Given the description of an element on the screen output the (x, y) to click on. 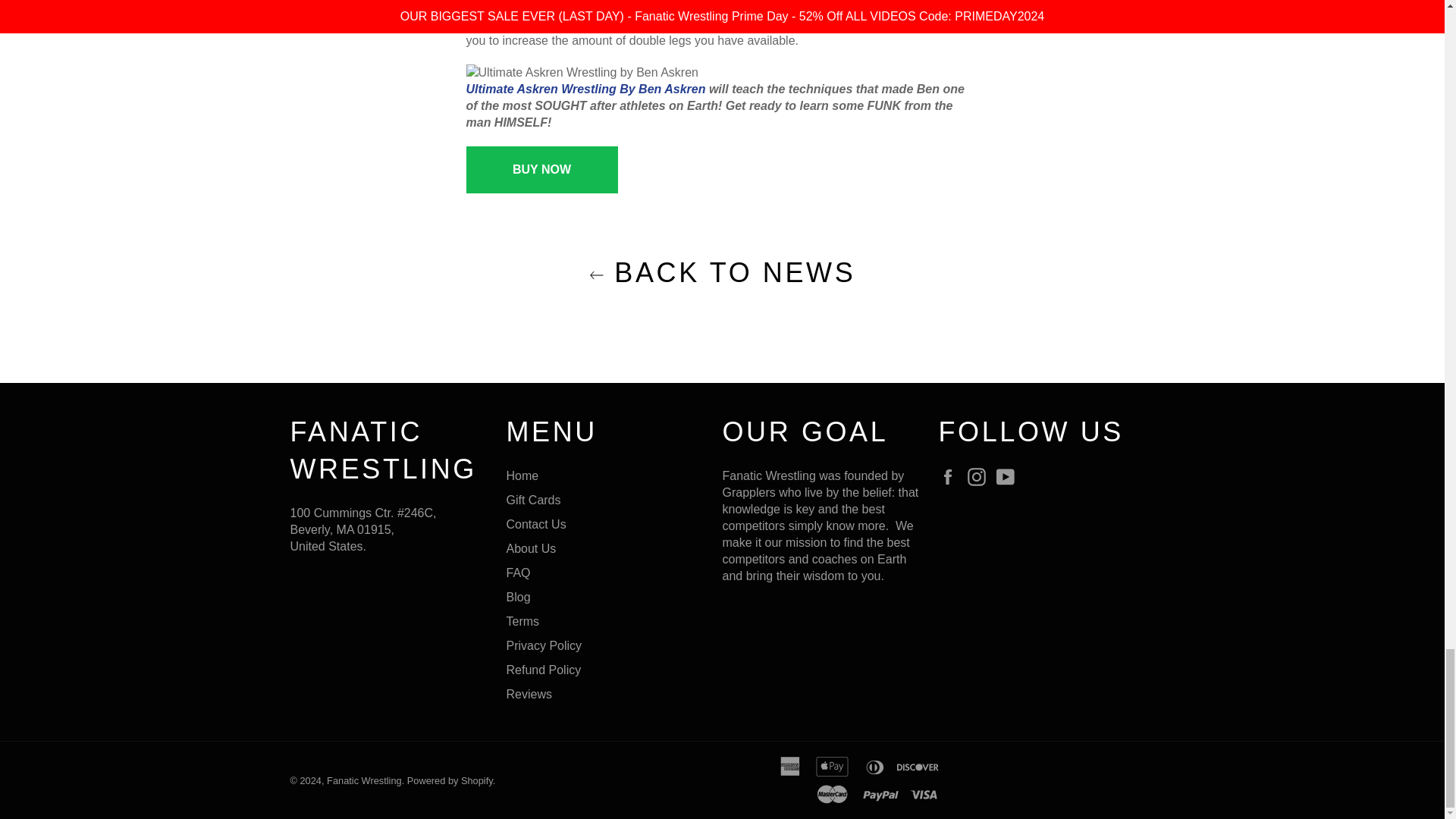
Fanatic Wrestling on Instagram (980, 476)
Fanatic Wrestling on YouTube (1008, 476)
Fanatic Wrestling on Facebook (951, 476)
